Given the description of an element on the screen output the (x, y) to click on. 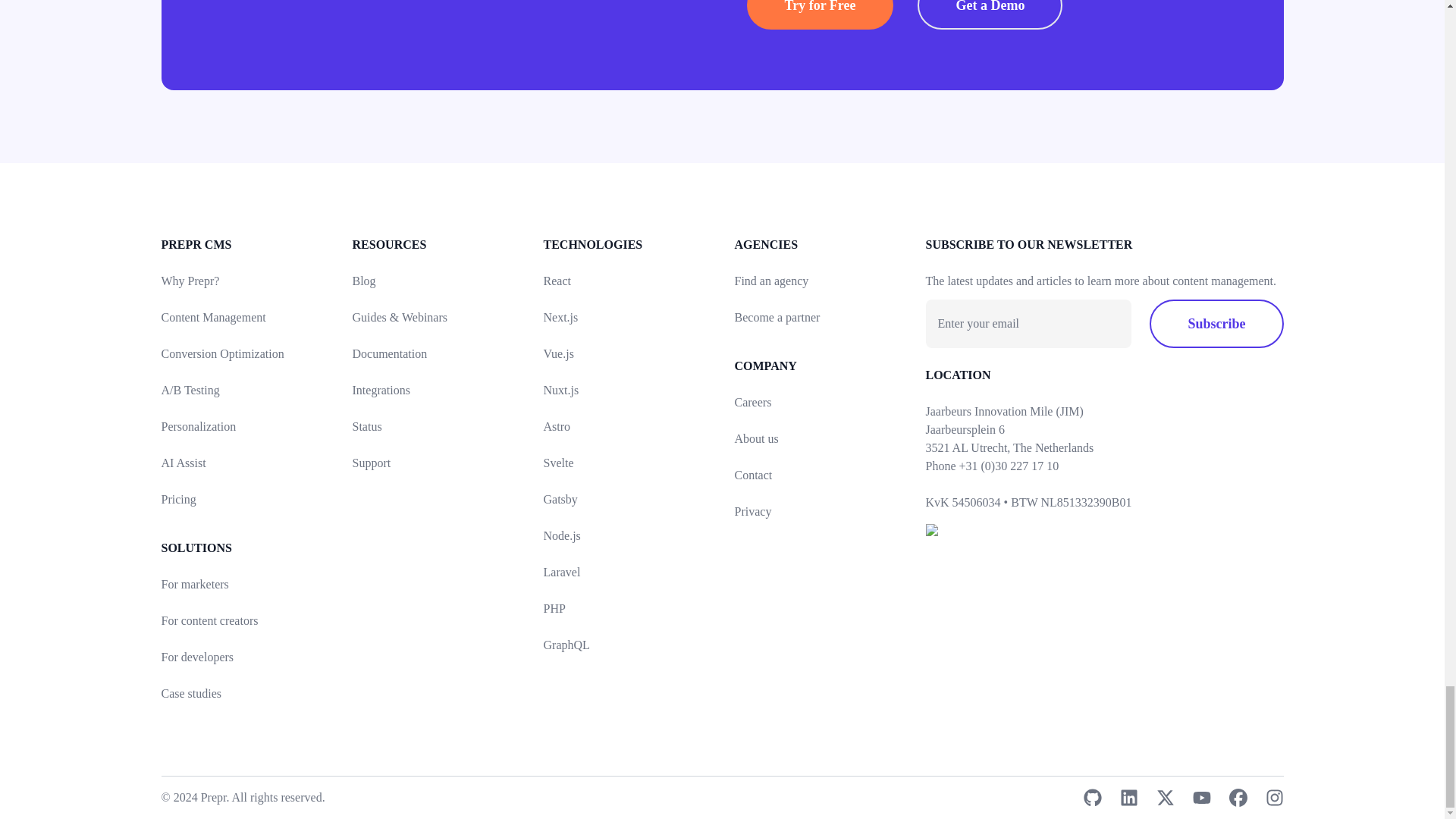
Content Management (212, 317)
Next.js (560, 317)
Conversion Optimization (221, 353)
Why Prepr? (189, 280)
Pricing (177, 499)
Get a Demo (989, 14)
Try for Free (819, 14)
Documentation (389, 353)
For developers (196, 656)
For marketers (194, 584)
